Given the description of an element on the screen output the (x, y) to click on. 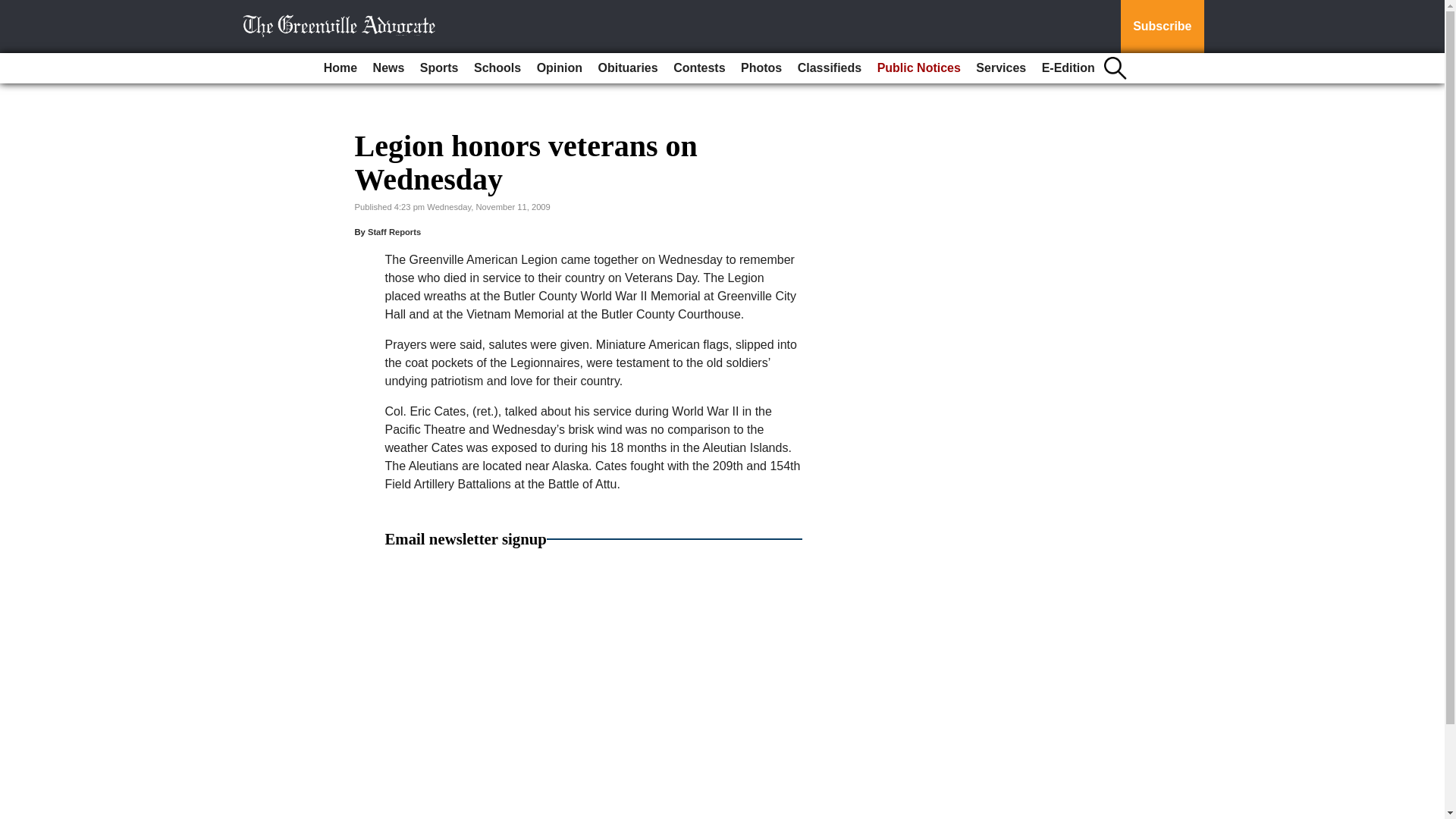
Photos (761, 68)
Classifieds (829, 68)
Services (1000, 68)
E-Edition (1067, 68)
Staff Reports (394, 231)
Contests (698, 68)
News (388, 68)
Subscribe (1162, 26)
Sports (438, 68)
Obituaries (627, 68)
